Given the description of an element on the screen output the (x, y) to click on. 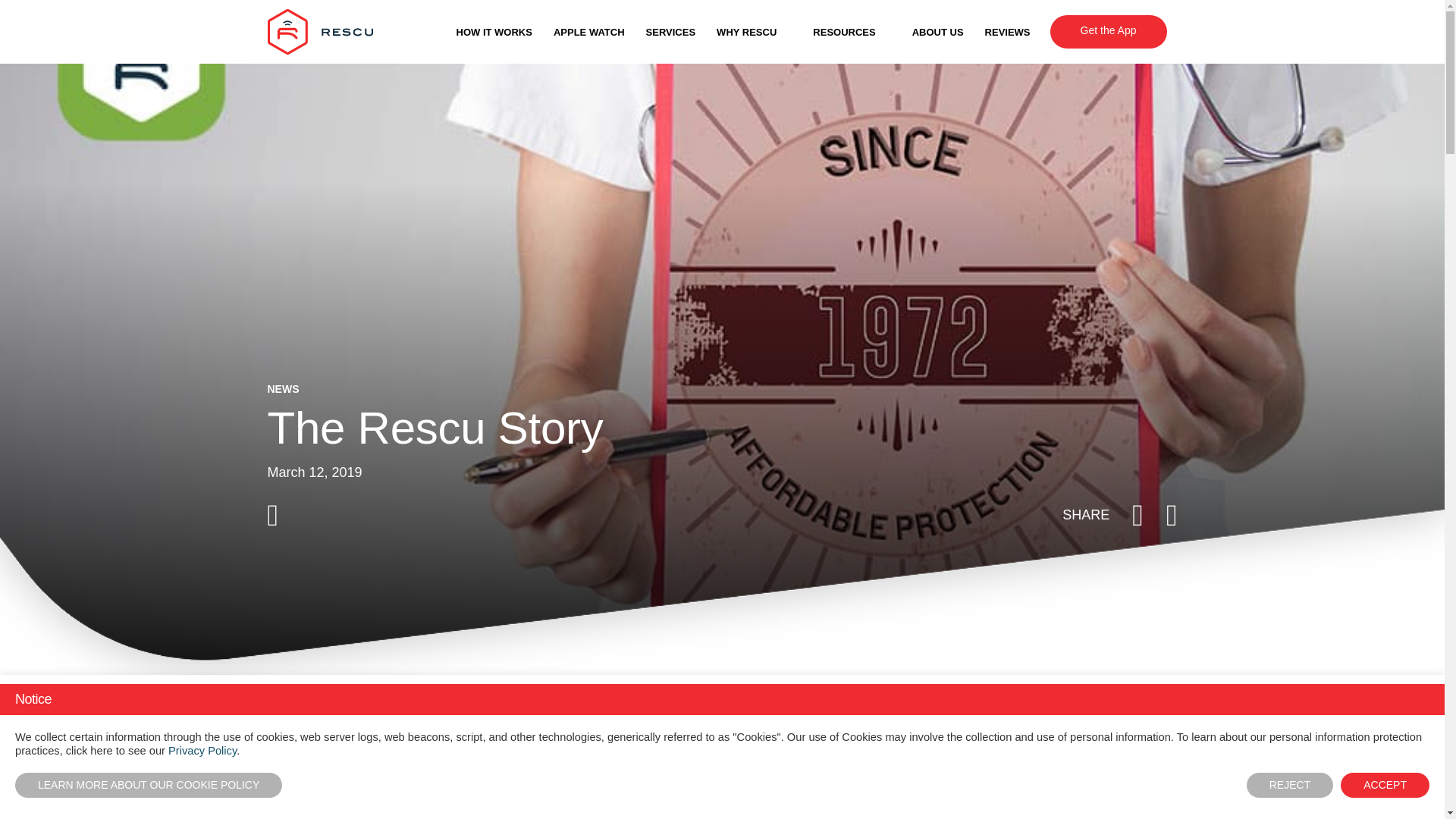
WHY RESCU (754, 31)
RESOURCES (850, 31)
SERVICES (670, 31)
HOW IT WORKS (494, 31)
APPLE WATCH (588, 31)
Get the App (1108, 30)
protect people and their properties (548, 807)
ABOUT US (937, 31)
Rescu Saves Lives (319, 31)
REVIEWS (1007, 31)
